Given the description of an element on the screen output the (x, y) to click on. 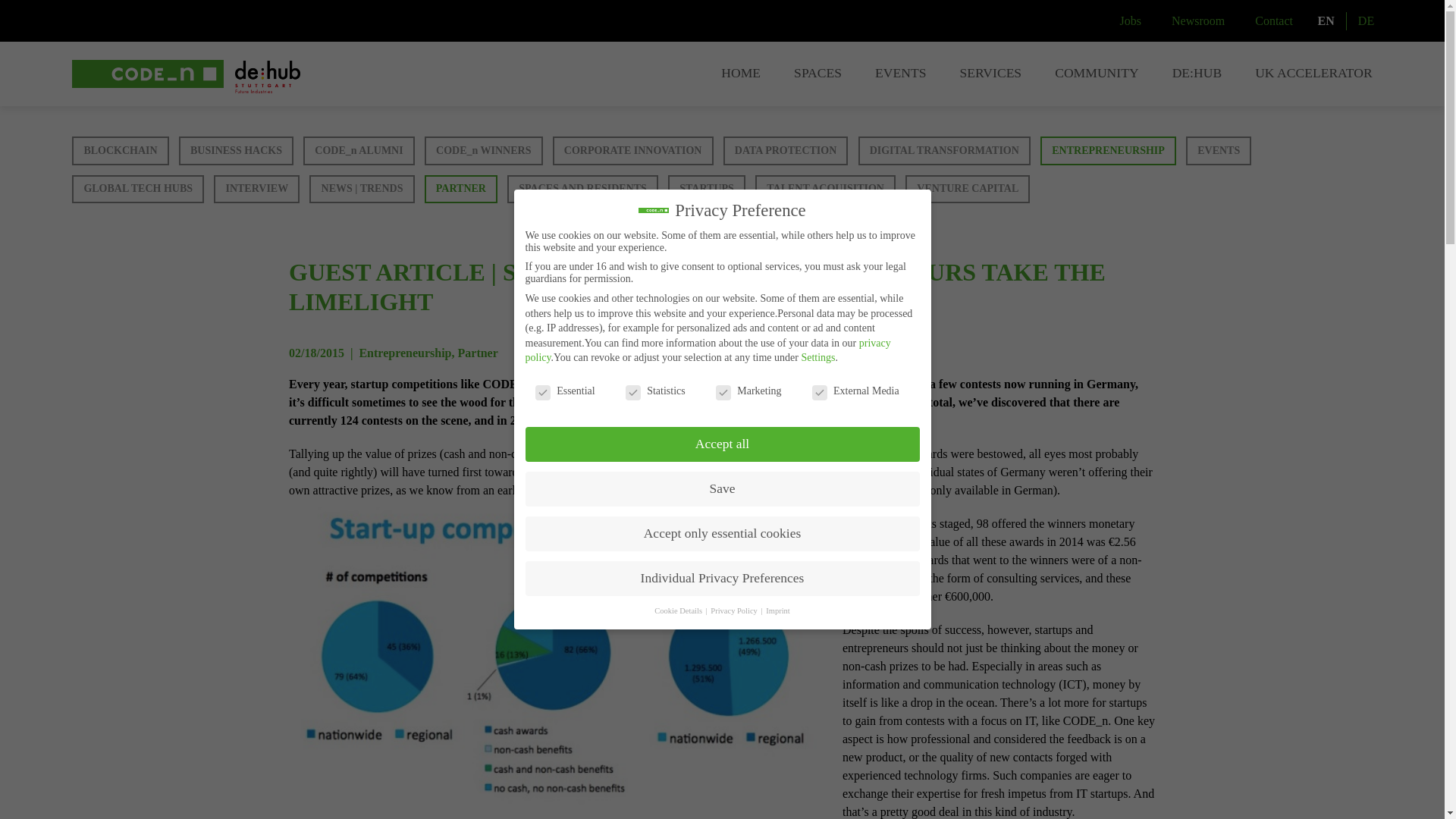
UK ACCELERATOR (1314, 74)
COMMUNITY (1096, 74)
VENTURE CAPITAL (967, 189)
ENTREPRENEURSHIP (1108, 150)
EVENTS (900, 74)
DATA PROTECTION (785, 150)
BUSINESS HACKS (236, 150)
Newsroom (1198, 21)
DIGITAL TRANSFORMATION (944, 150)
BLOCKCHAIN (119, 150)
